Given the description of an element on the screen output the (x, y) to click on. 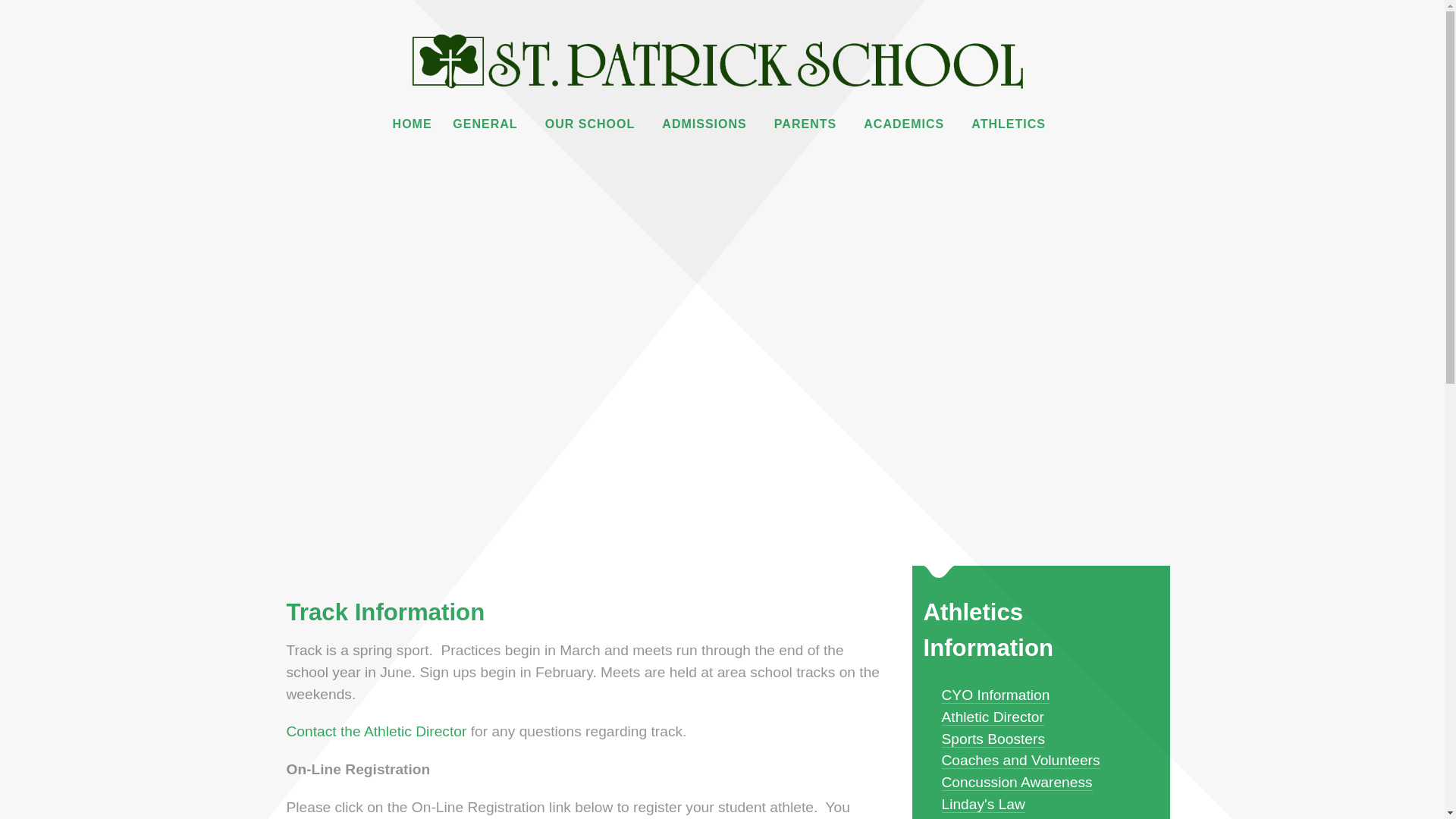
General Links (488, 124)
GENERAL (488, 124)
PARENTS (808, 124)
ADMISSIONS (707, 124)
Contact CYO (376, 731)
OUR SCHOOL (593, 124)
HOME (412, 124)
